Given the description of an element on the screen output the (x, y) to click on. 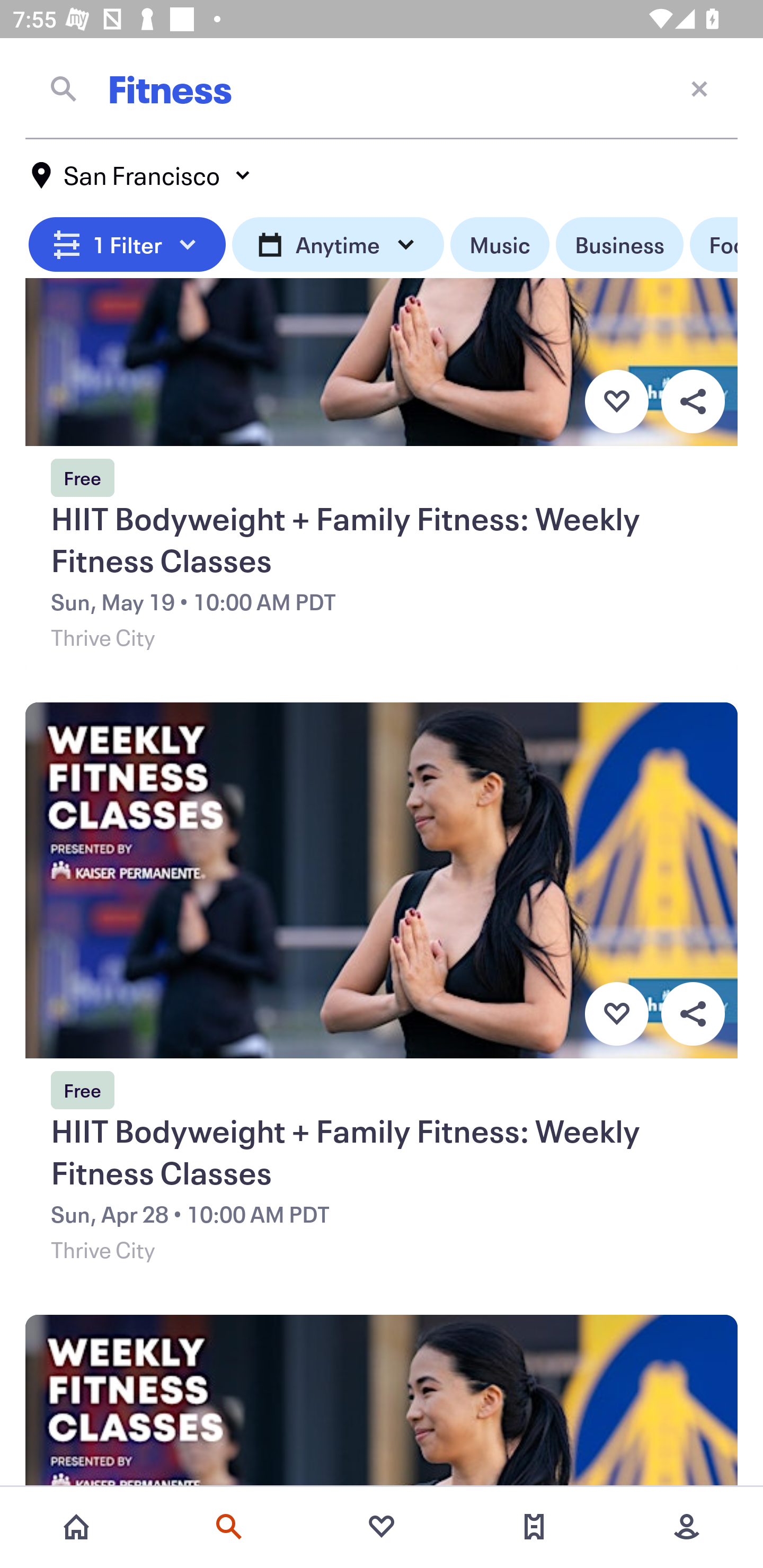
Fitness Close current screen (381, 88)
Close current screen (699, 88)
San Francisco (141, 175)
Favorite button (616, 401)
Overflow menu button (692, 401)
Favorite button (616, 1013)
Overflow menu button (692, 1013)
Event's image (381, 1403)
Home (76, 1526)
Search events (228, 1526)
Favorites (381, 1526)
Tickets (533, 1526)
More (686, 1526)
